Given the description of an element on the screen output the (x, y) to click on. 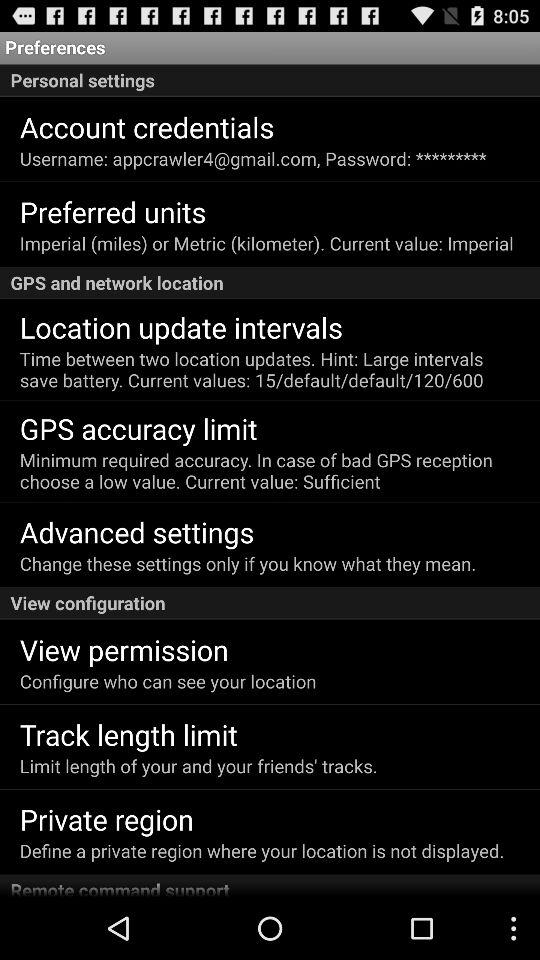
tap preferred units item (112, 211)
